Given the description of an element on the screen output the (x, y) to click on. 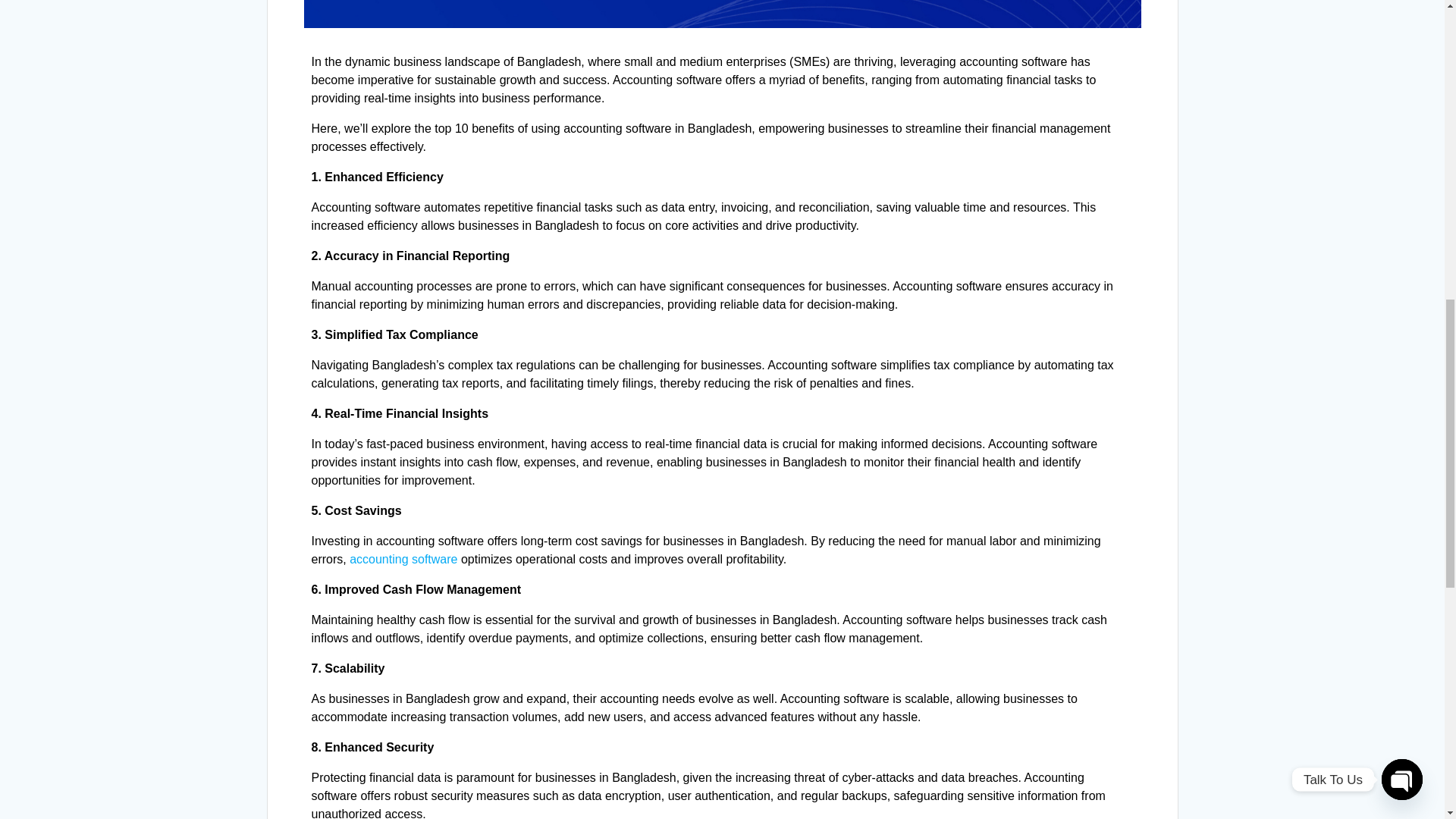
accounting software (403, 558)
